Given the description of an element on the screen output the (x, y) to click on. 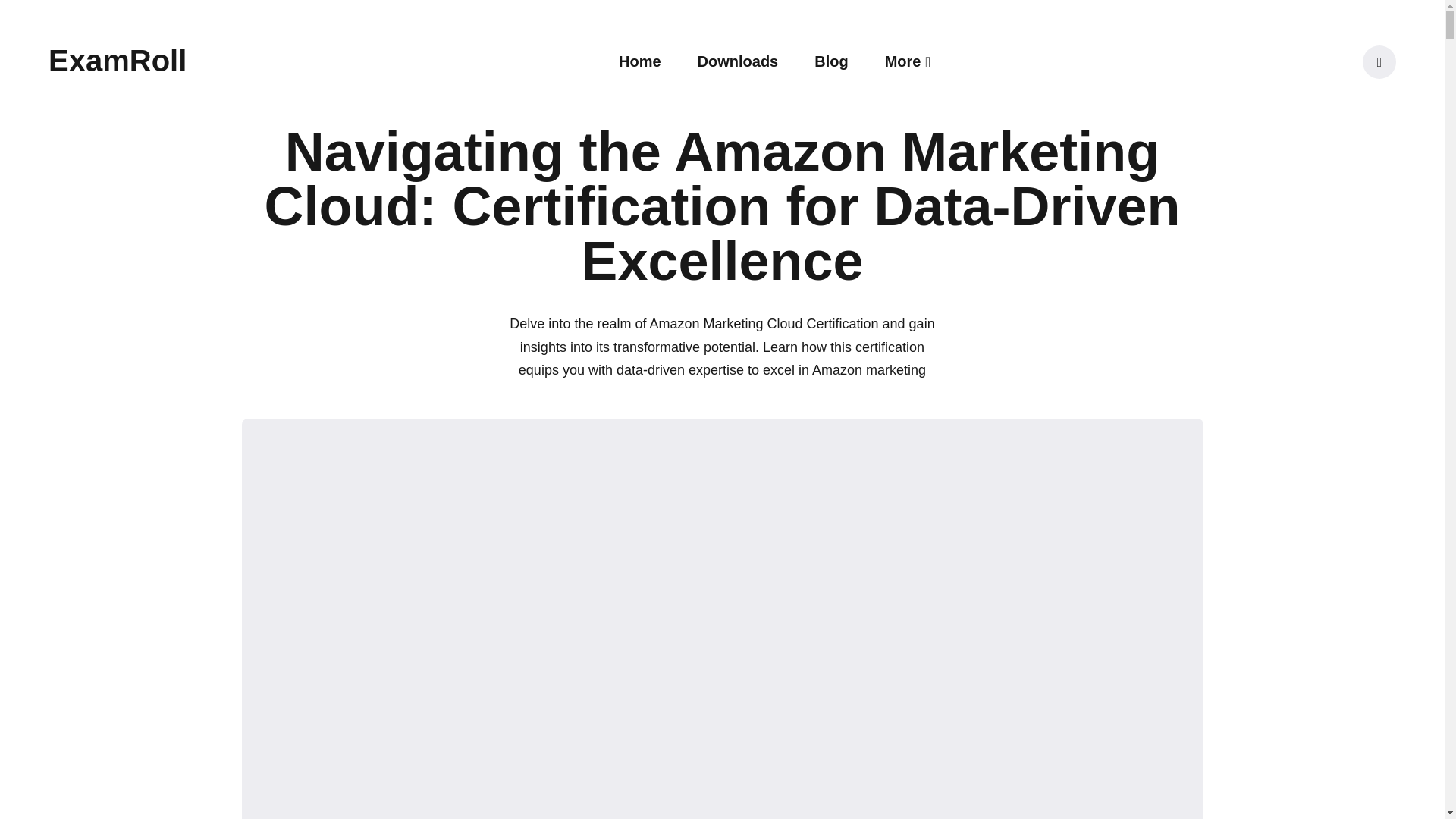
Home (639, 61)
Blog (830, 61)
ExamRoll (117, 60)
Downloads (737, 61)
